Given the description of an element on the screen output the (x, y) to click on. 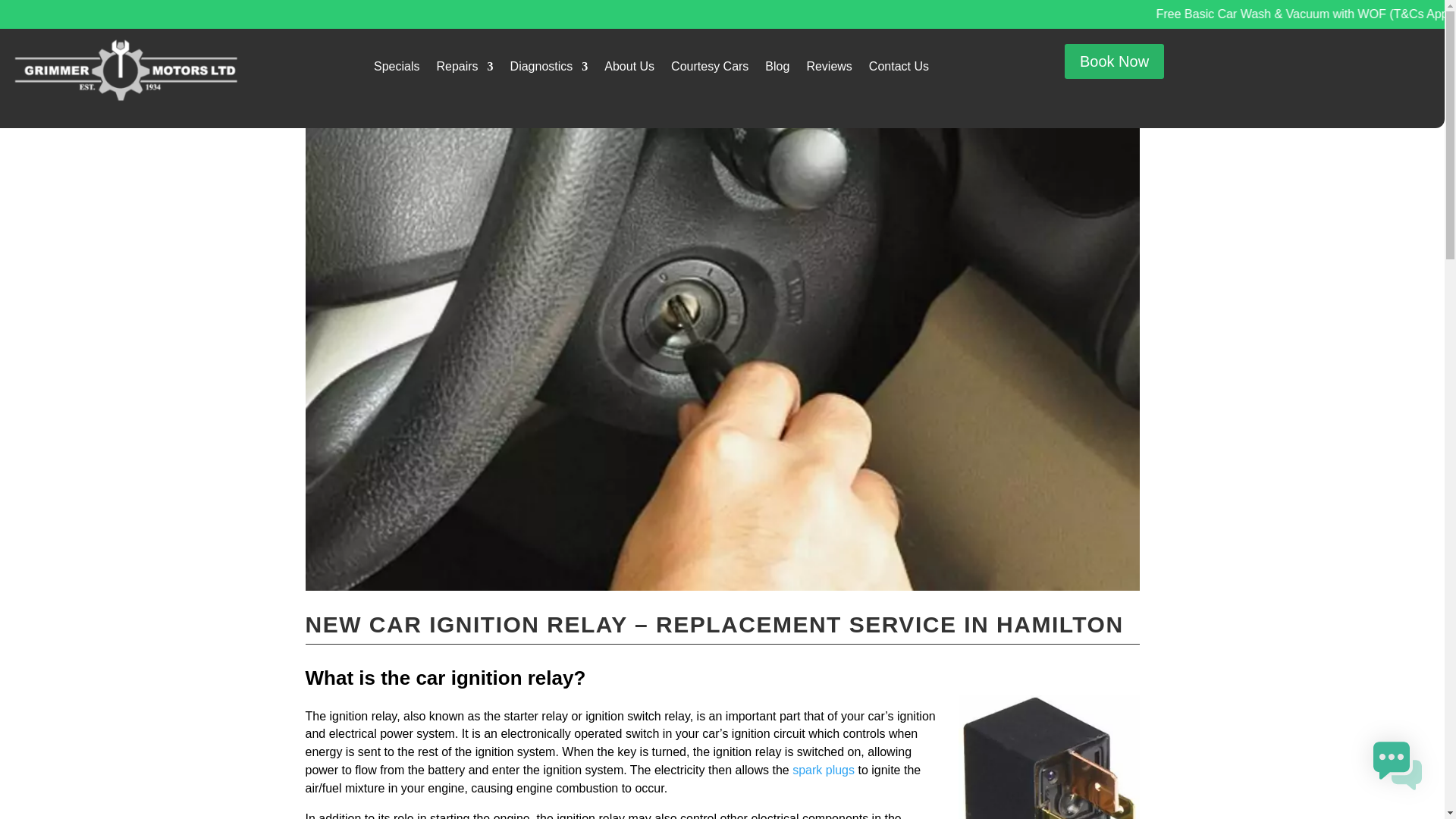
Blog (777, 69)
Diagnostics (549, 69)
Specials (396, 69)
About Us (628, 69)
Reviews (828, 69)
Repairs (464, 69)
Courtesy Cars (709, 69)
